Given the description of an element on the screen output the (x, y) to click on. 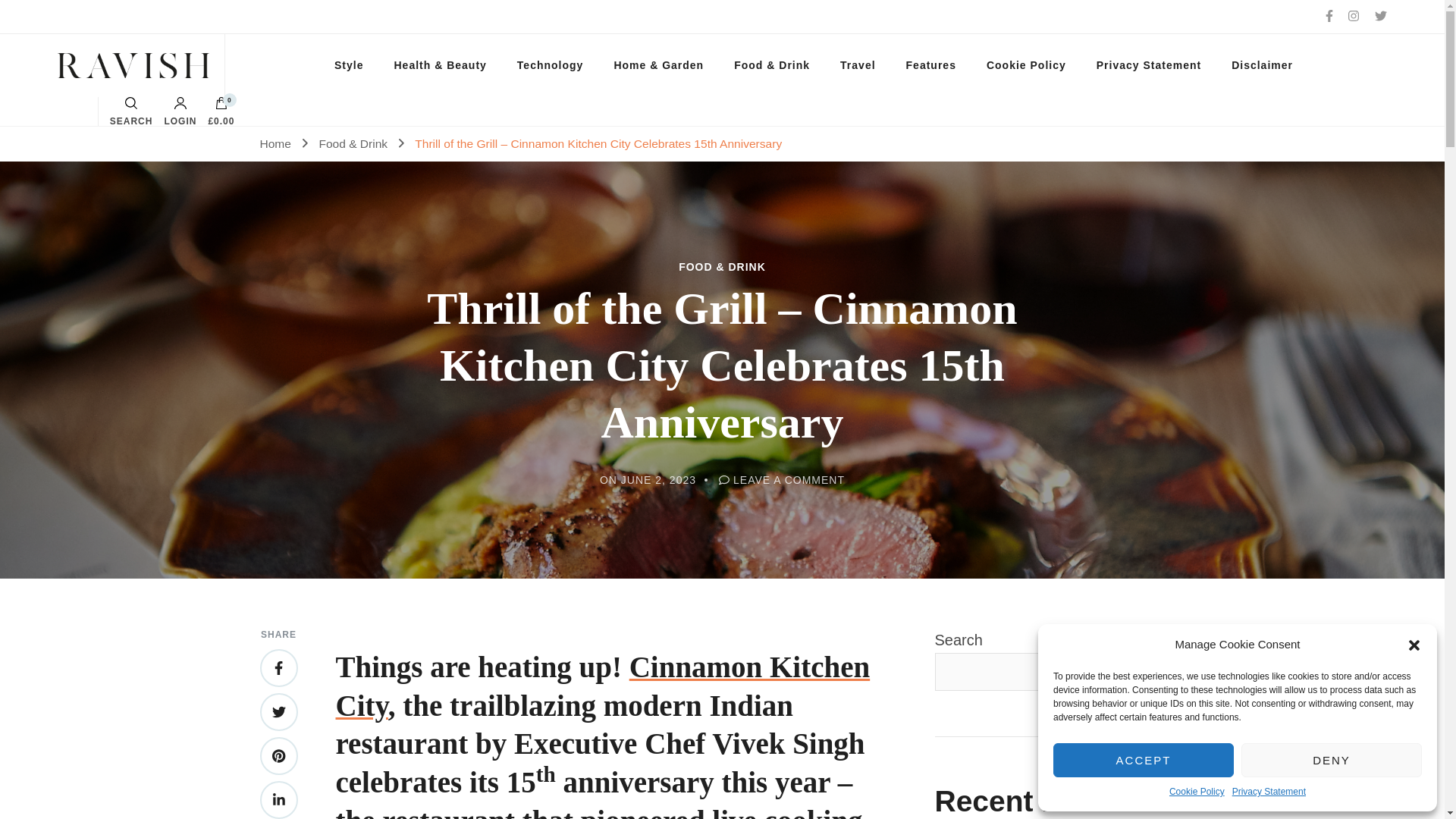
Features (931, 65)
Travel (857, 65)
Disclaimer (1261, 65)
Cookie Policy (1196, 792)
Technology (550, 65)
Cookie Policy (1026, 65)
Search (915, 417)
DENY (1331, 759)
Privacy Statement (1268, 792)
LOGIN (179, 111)
Privacy Statement (1148, 65)
Ravish Magazine (113, 64)
SEARCH (131, 111)
ACCEPT (1142, 759)
